Given the description of an element on the screen output the (x, y) to click on. 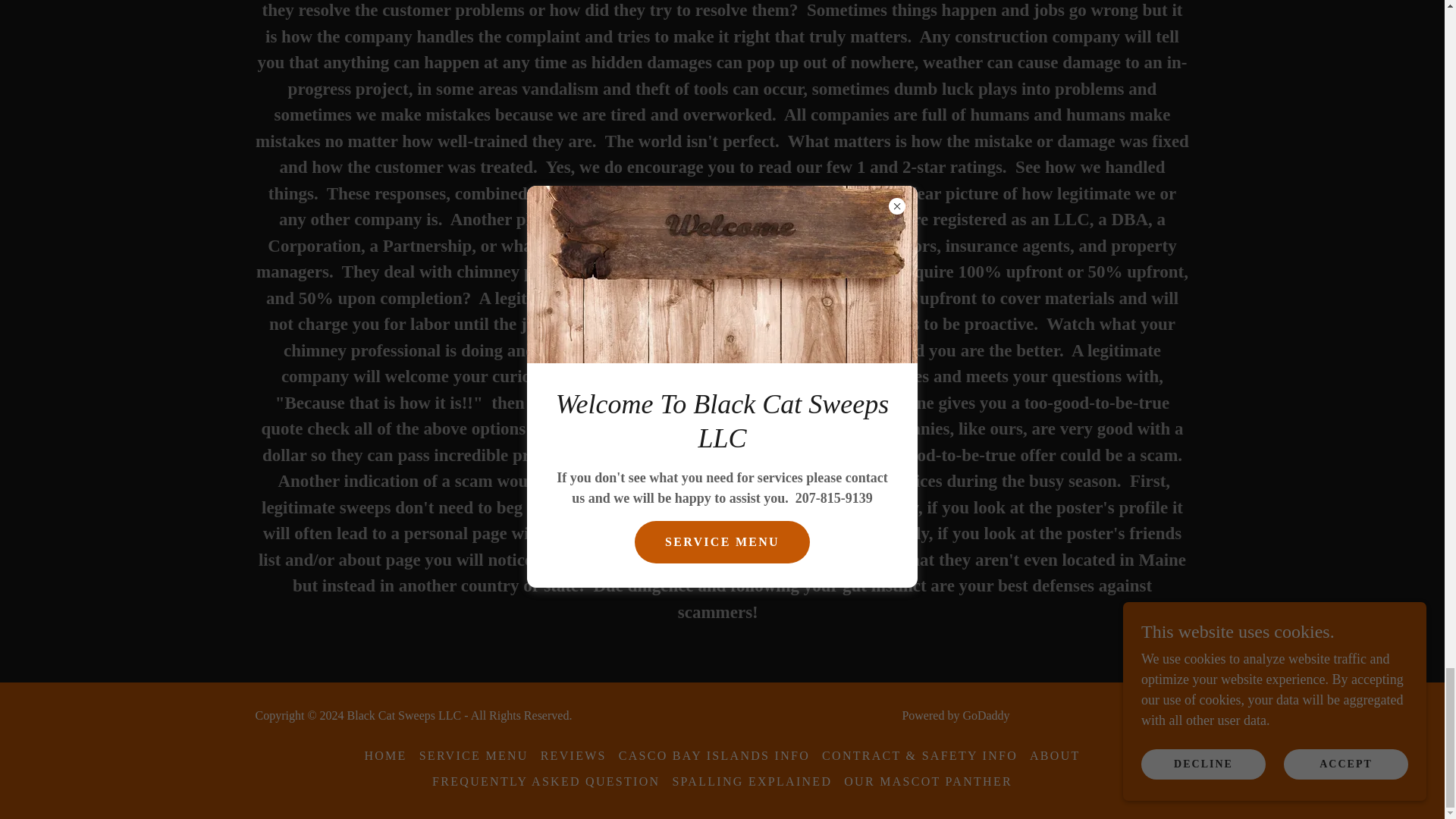
HOME (385, 755)
OUR MASCOT PANTHER (927, 781)
SPALLING EXPLAINED (751, 781)
GoDaddy (985, 715)
CASCO BAY ISLANDS INFO (713, 755)
FREQUENTLY ASKED QUESTION (545, 781)
REVIEWS (573, 755)
SERVICE MENU (473, 755)
ABOUT (1054, 755)
